Given the description of an element on the screen output the (x, y) to click on. 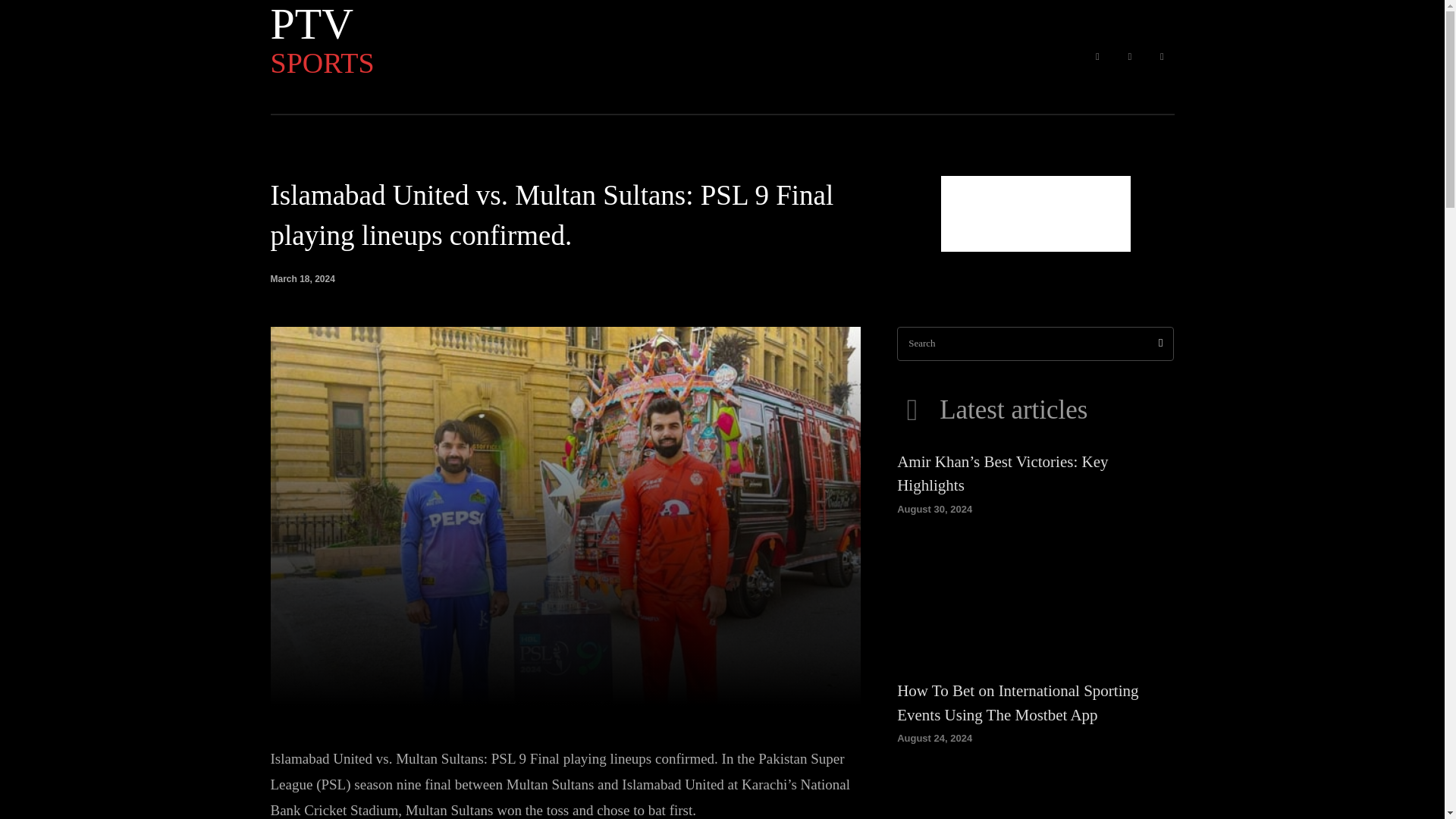
Twitter (345, 38)
Facebook (1162, 57)
Instagram (1096, 57)
